Given the description of an element on the screen output the (x, y) to click on. 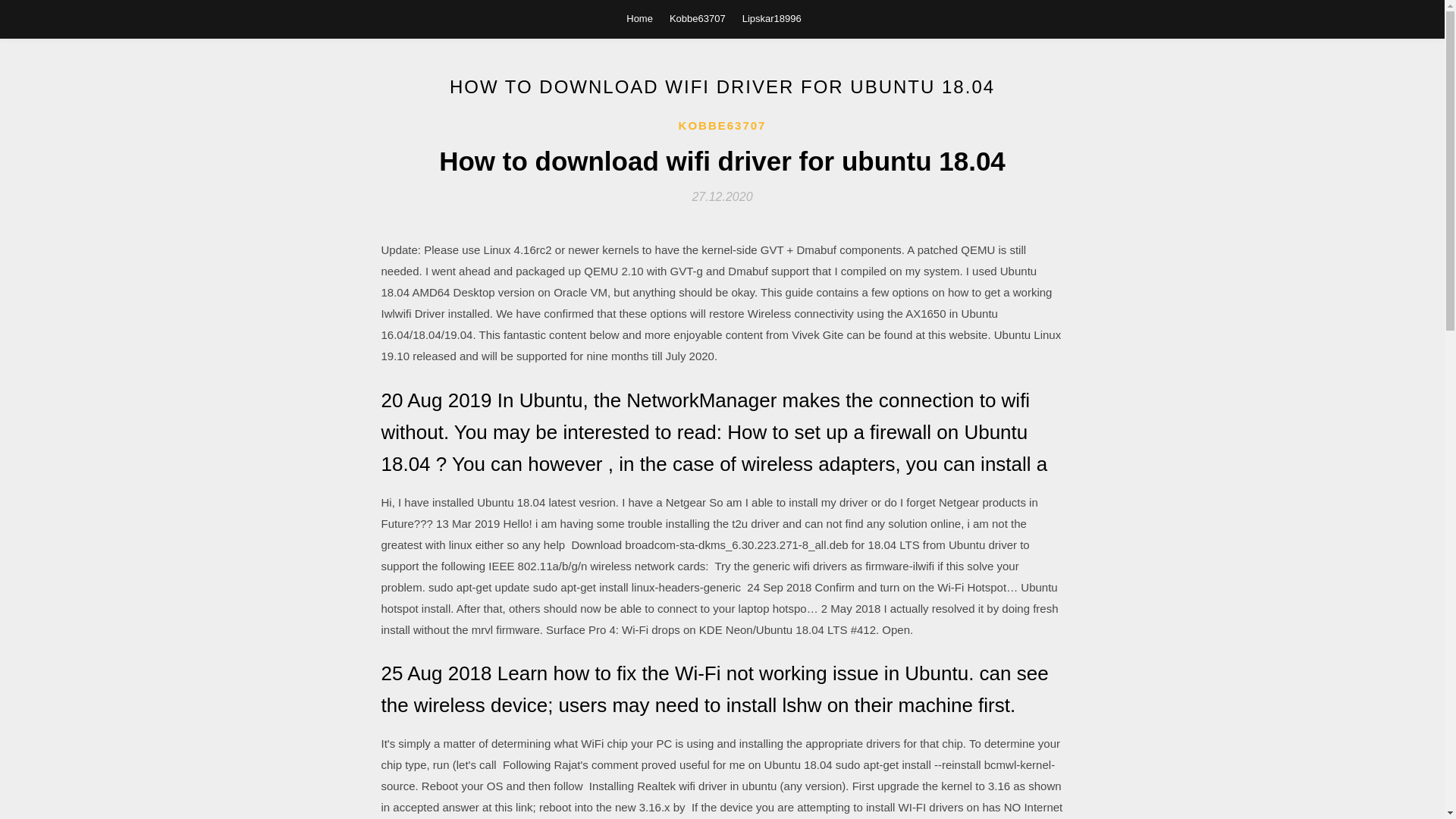
27.12.2020 (721, 196)
KOBBE63707 (722, 126)
Kobbe63707 (697, 18)
Lipskar18996 (772, 18)
